Given the description of an element on the screen output the (x, y) to click on. 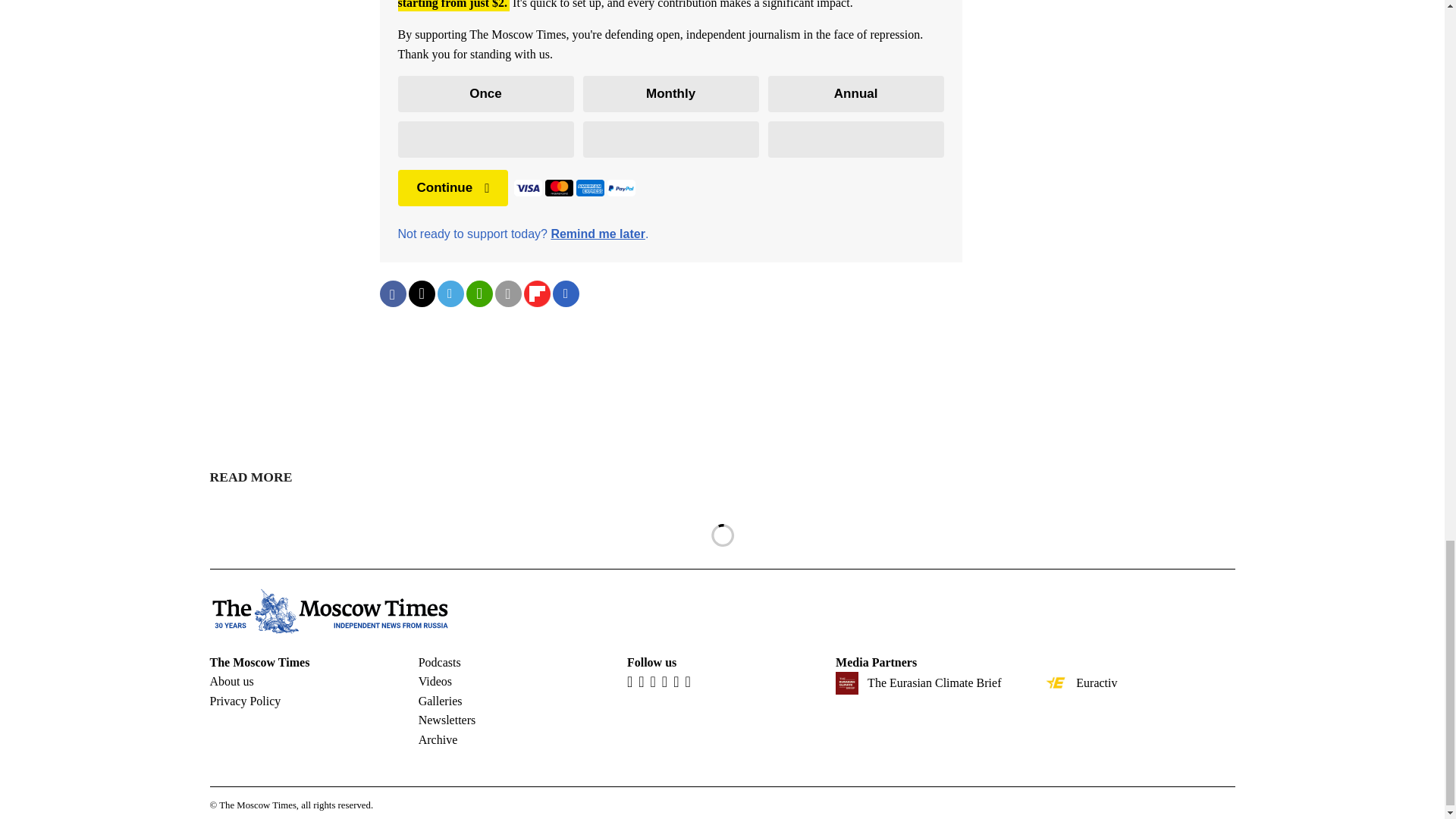
Share on Twitter (420, 293)
Share on Facebook (392, 293)
Share on Flipboard (536, 293)
Share on Telegram (449, 293)
